Given the description of an element on the screen output the (x, y) to click on. 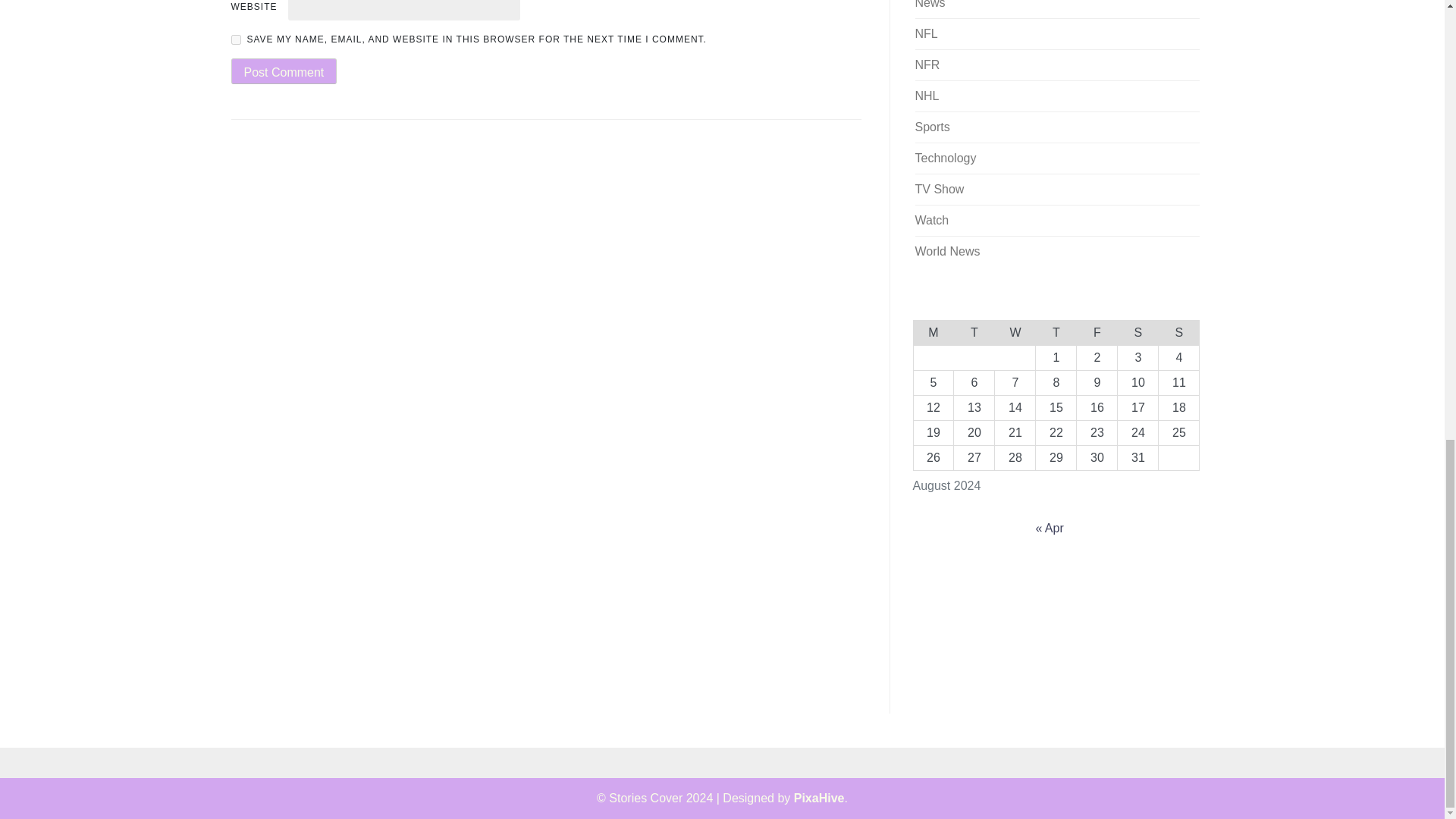
Thursday (1056, 332)
yes (235, 40)
Tuesday (973, 332)
Wednesday (1014, 332)
Sunday (1178, 332)
Post Comment (283, 71)
Monday (932, 332)
Saturday (1138, 332)
Friday (1097, 332)
